Given the description of an element on the screen output the (x, y) to click on. 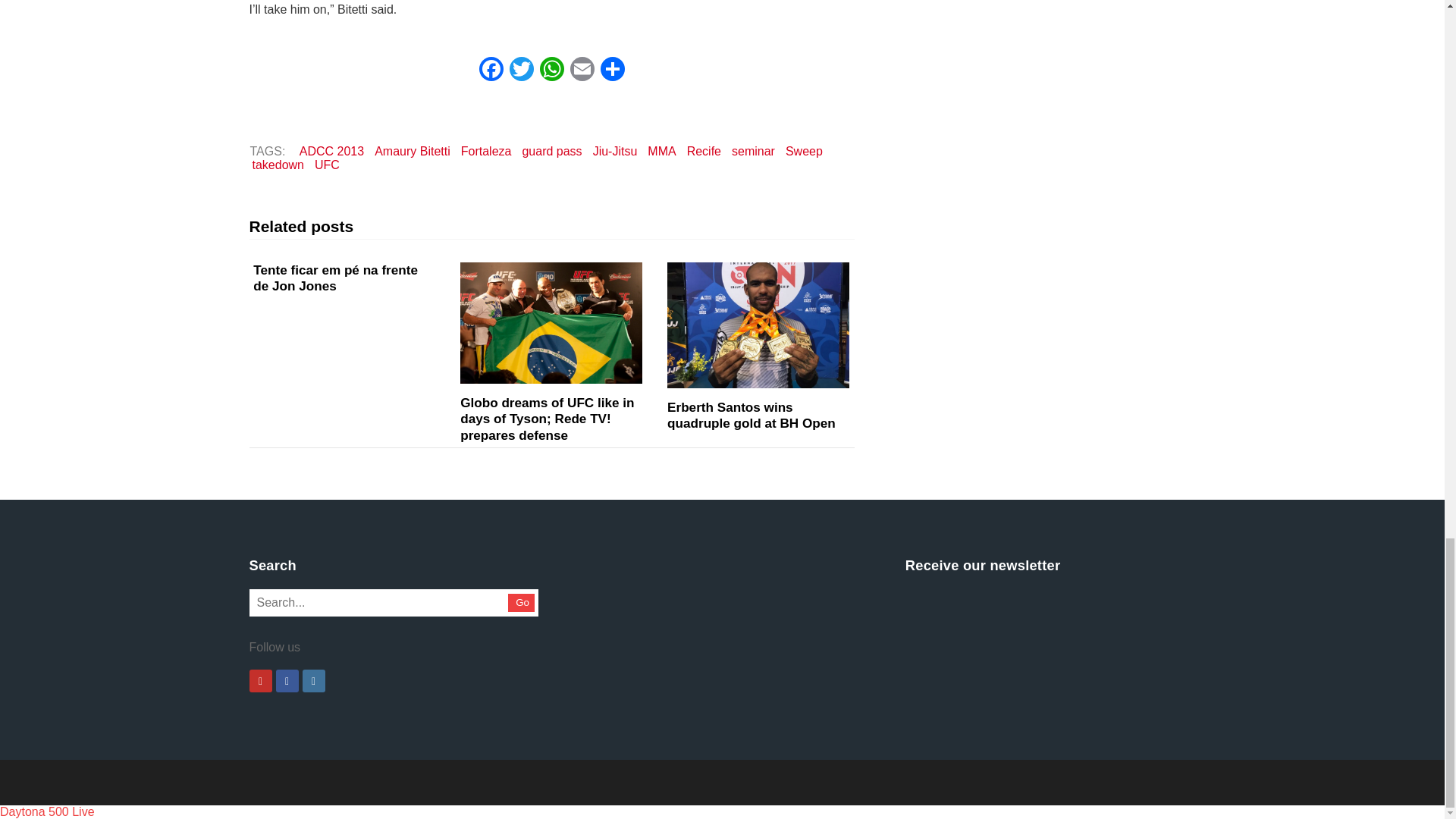
Erberth Santos wins quadruple gold at BH Open (758, 325)
Jiu-Jitsu (615, 150)
Amaury Bitetti (412, 150)
ADCC 2013 (331, 150)
Sweep (804, 150)
MMA (661, 150)
takedown (278, 164)
Email (581, 70)
